Given the description of an element on the screen output the (x, y) to click on. 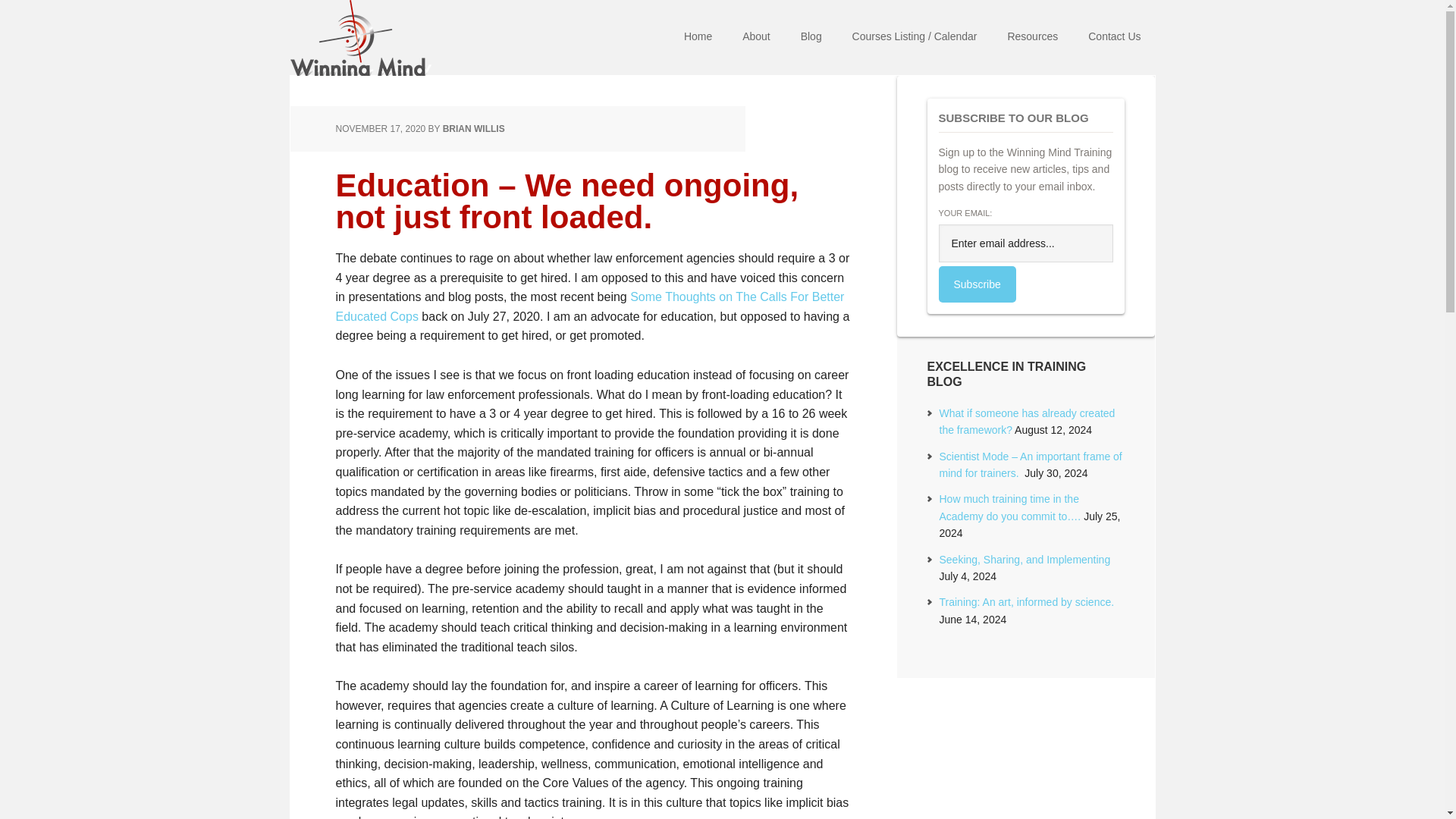
Winning Mind Training (387, 38)
Contact Us (1114, 37)
Resources (1031, 37)
Some Thoughts on The Calls For Better Educated Cops (589, 306)
BRIAN WILLIS (473, 128)
Training: An art, informed by science. (1026, 602)
Enter email address... (1026, 243)
Subscribe (977, 284)
What if someone has already created the framework? (1027, 421)
Seeking, Sharing, and Implementing (1024, 559)
